Given the description of an element on the screen output the (x, y) to click on. 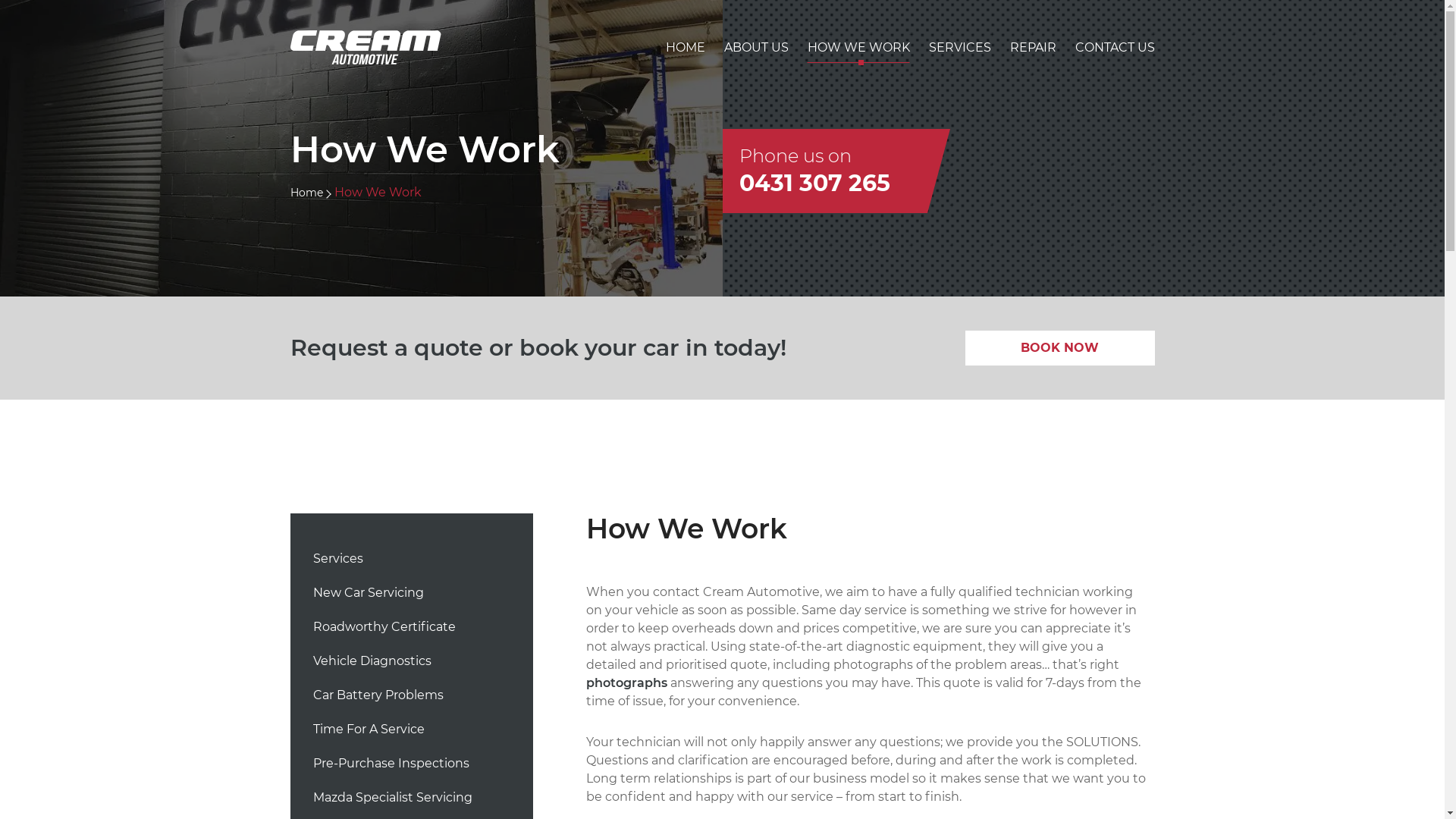
Mazda Specialist Servicing Element type: text (391, 803)
REPAIR Element type: text (1033, 52)
CONTACT US Element type: text (1114, 52)
Time For A Service Element type: text (367, 734)
SERVICES Element type: text (959, 52)
New Car Servicing Element type: text (367, 598)
HOW WE WORK Element type: text (857, 52)
HOME Element type: text (685, 52)
Services Element type: text (337, 564)
ABOUT US Element type: text (755, 52)
Vehicle Diagnostics Element type: text (371, 666)
0431 307 265 Element type: text (813, 183)
Roadworthy Certificate Element type: text (383, 632)
Car Battery Problems Element type: text (377, 700)
Home Element type: text (305, 192)
BOOK NOW Element type: text (1059, 347)
Pre-Purchase Inspections Element type: text (390, 769)
